Given the description of an element on the screen output the (x, y) to click on. 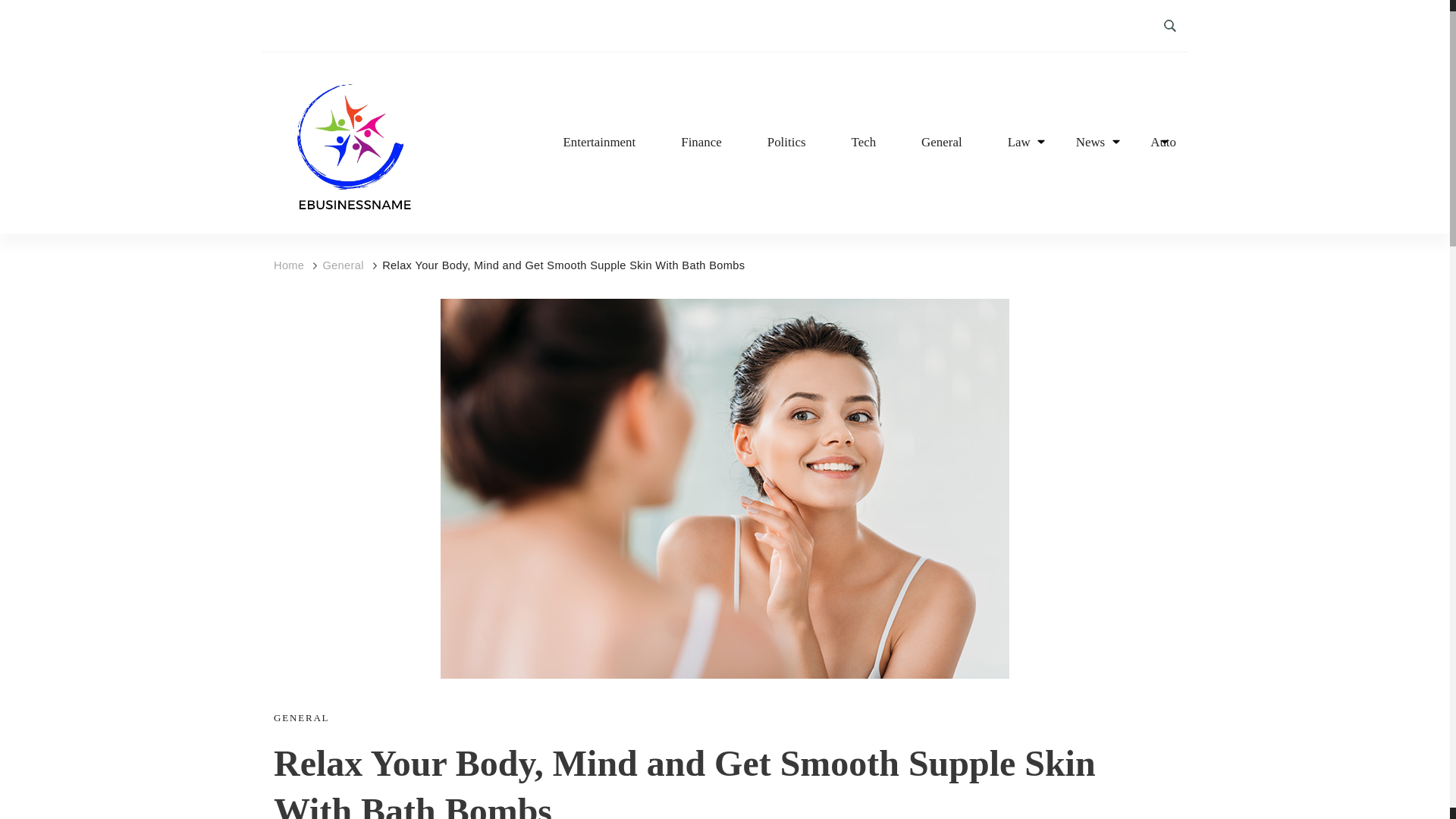
News (1090, 142)
Auto (1163, 142)
General (941, 142)
Politics (786, 142)
Entertainment (598, 142)
Law (1018, 142)
Tech (863, 142)
Finance (701, 142)
ebusinessnames (351, 233)
